Given the description of an element on the screen output the (x, y) to click on. 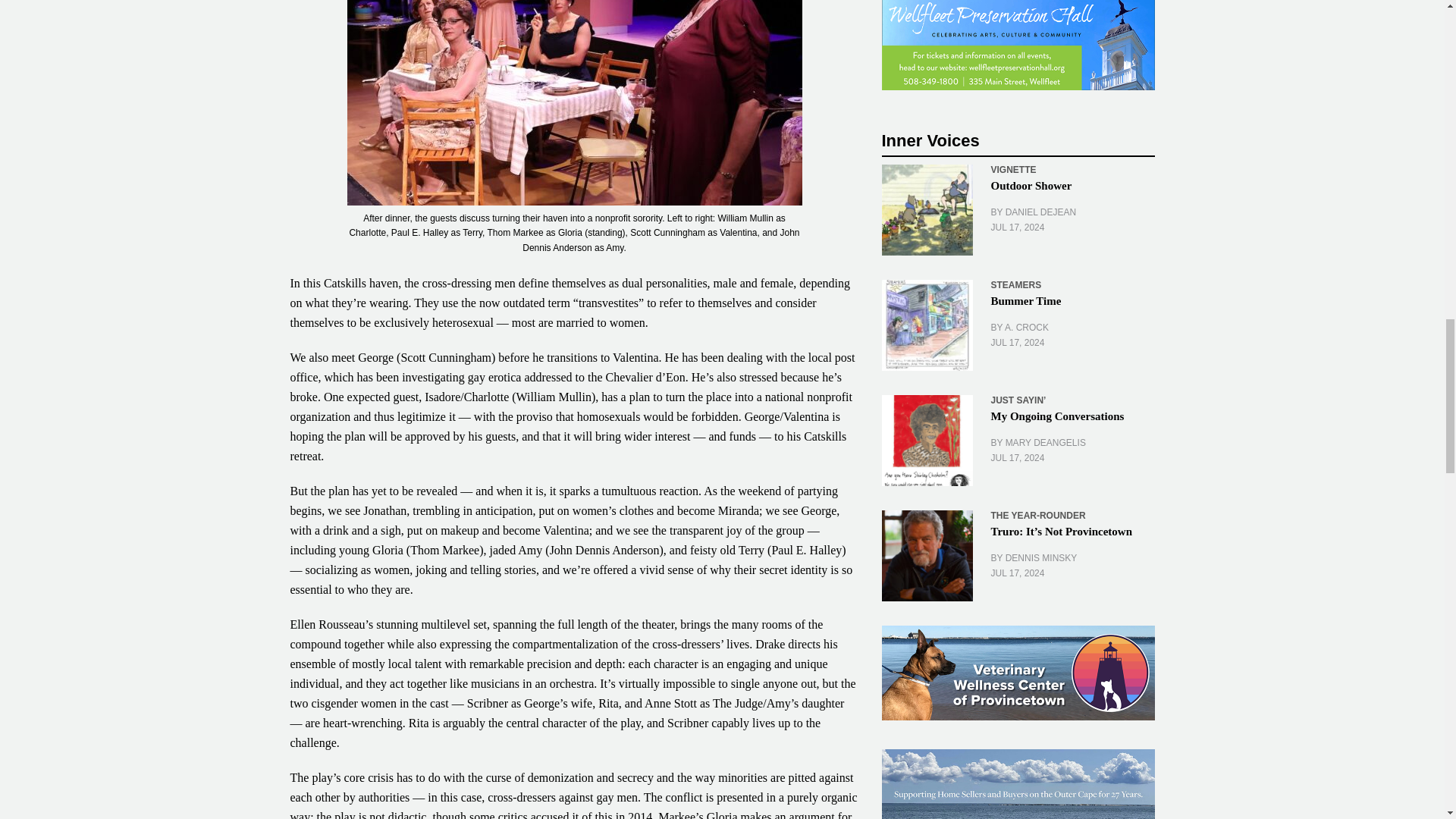
More from this category (1017, 399)
More from this category (1012, 169)
More from this category (1015, 285)
More from this category (1037, 515)
